Given the description of an element on the screen output the (x, y) to click on. 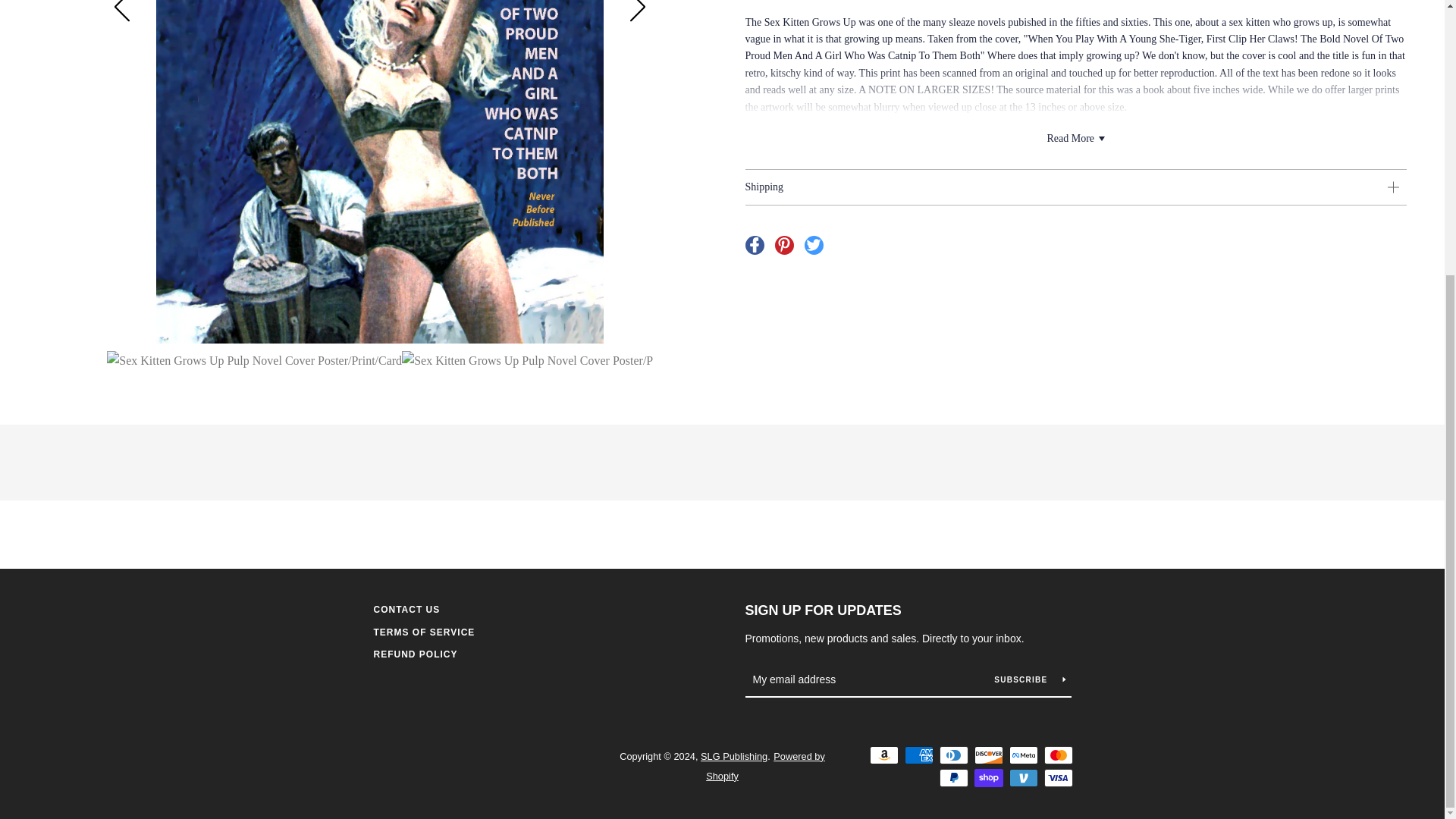
PayPal (953, 778)
Venmo (1022, 778)
Shop Pay (988, 778)
Meta Pay (1022, 755)
SUBSCRIBE (1029, 679)
Diners Club (953, 755)
Discover (988, 755)
SLG Publishing (733, 756)
TERMS OF SERVICE (423, 632)
Shipping (1075, 186)
American Express (918, 755)
REFUND POLICY (414, 654)
Visa (1057, 778)
CONTACT US (405, 609)
Powered by Shopify (765, 766)
